Given the description of an element on the screen output the (x, y) to click on. 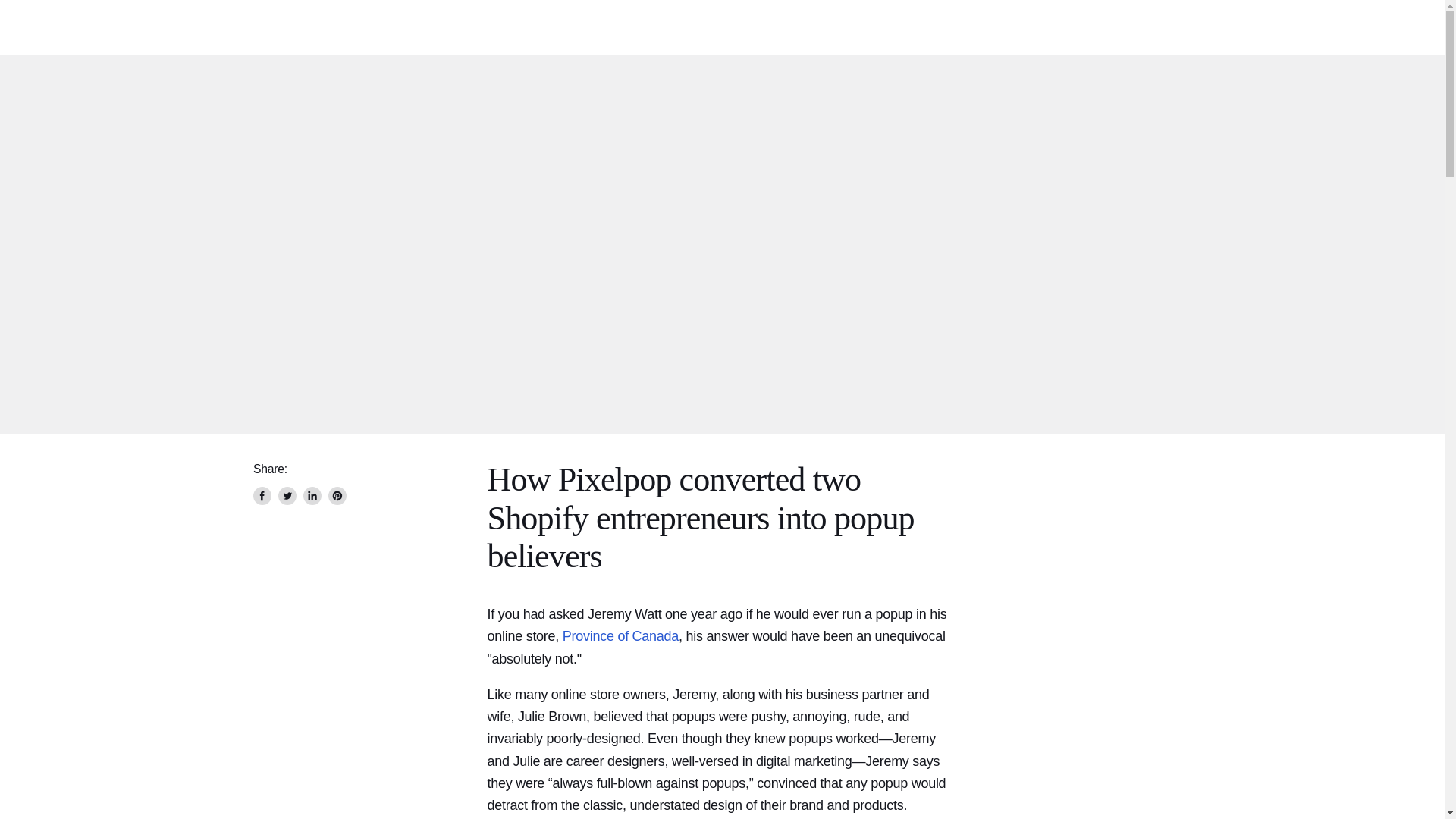
Tweet on Twitter (287, 495)
Province of Canada (618, 635)
Share on Facebook (261, 495)
Pin on Pinterest (337, 495)
Share on LinkedIn (311, 495)
